Given the description of an element on the screen output the (x, y) to click on. 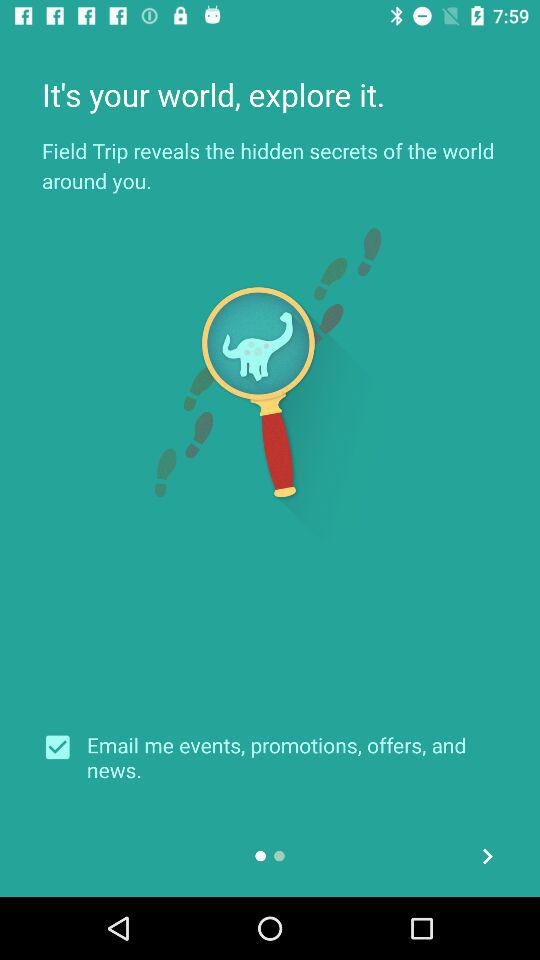
click the email me events (292, 757)
